Given the description of an element on the screen output the (x, y) to click on. 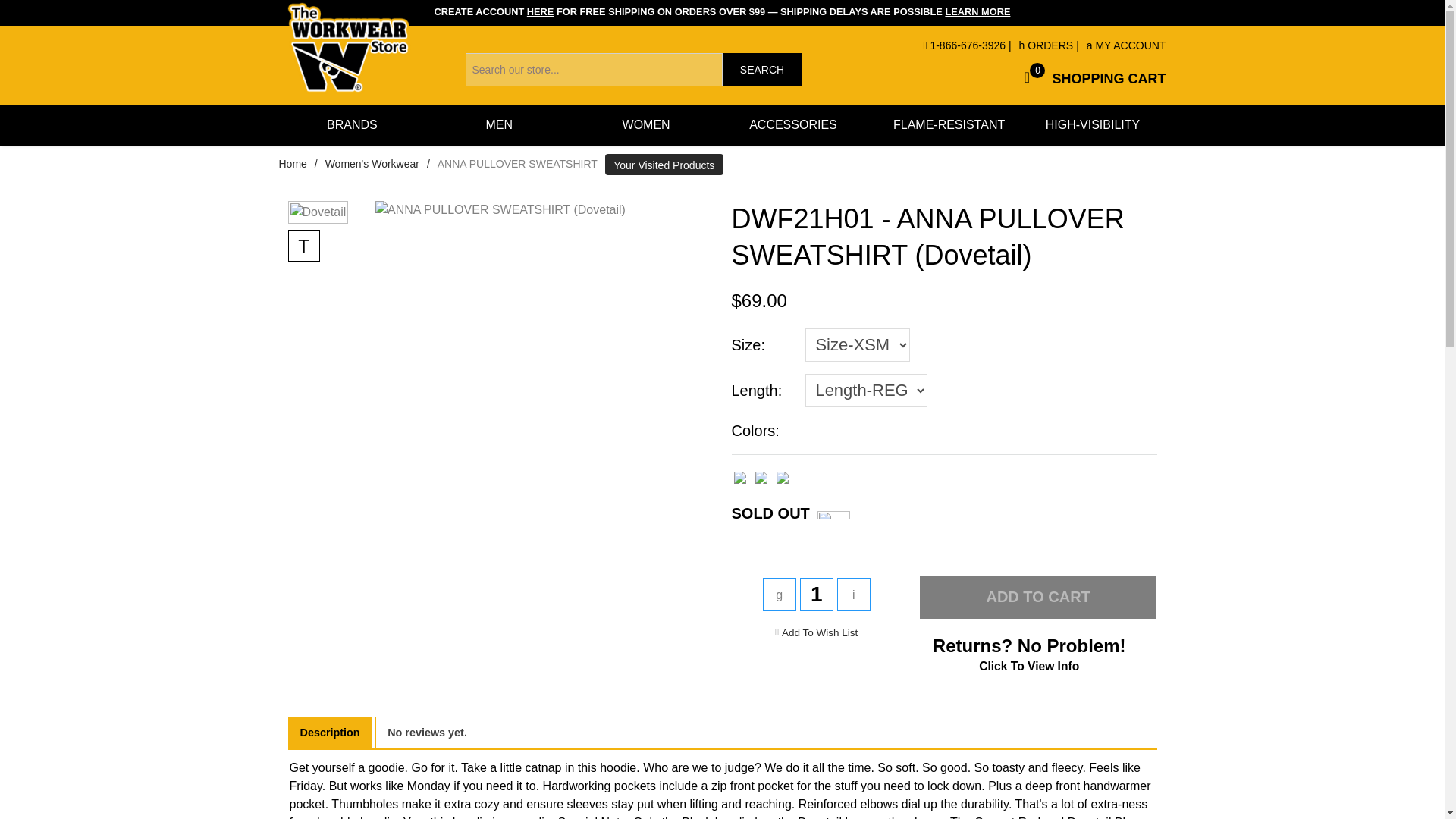
Search (762, 69)
Welcome to The Workwear Store (349, 48)
LEARN MORE (977, 11)
Dovetail (318, 211)
BRANDS (351, 124)
MY ACCOUNT (1126, 45)
Size: (762, 344)
HERE (540, 11)
Home (293, 163)
Add to Cart (1038, 597)
